Given the description of an element on the screen output the (x, y) to click on. 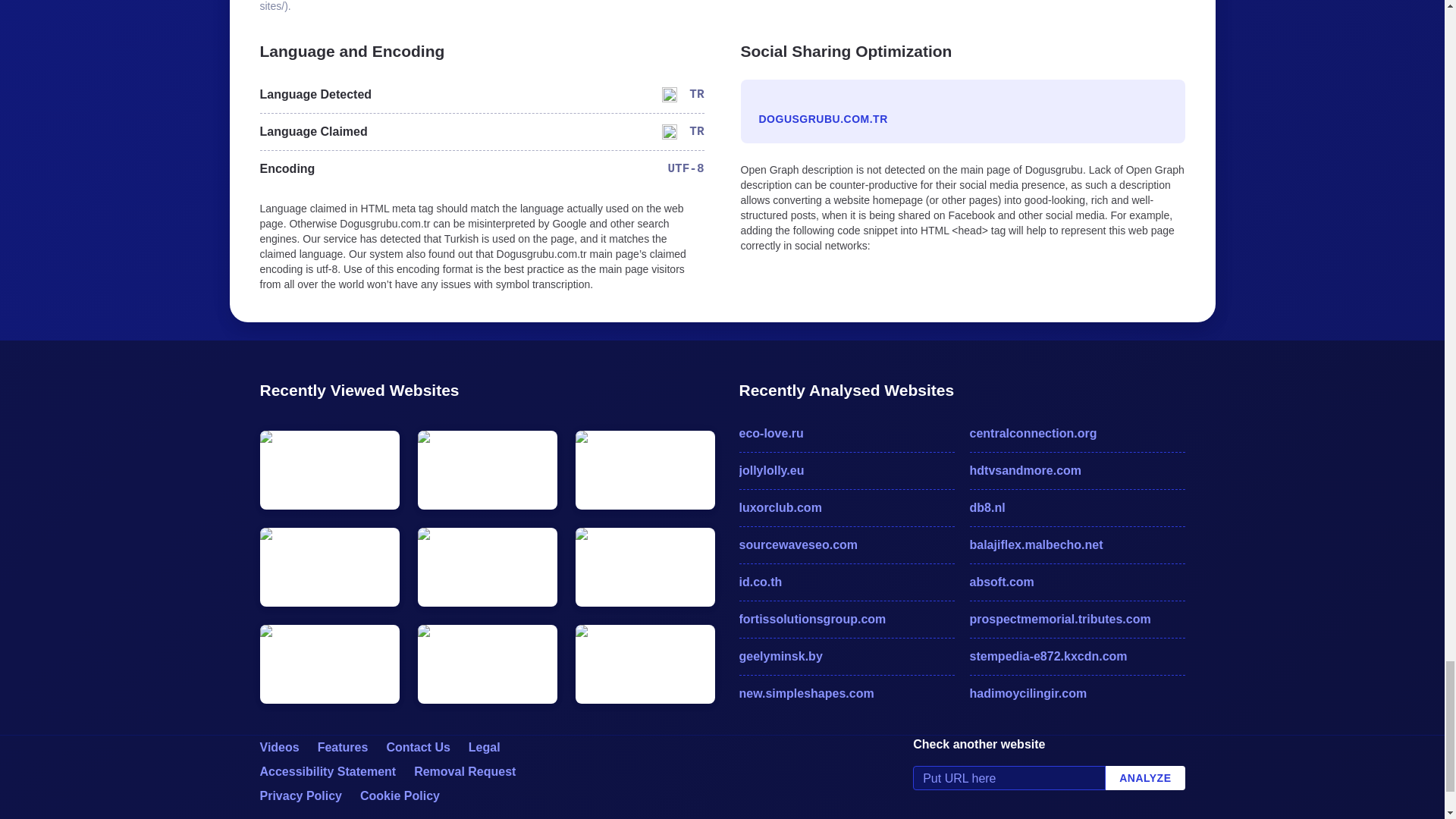
stempedia-e872.kxcdn.com (1077, 656)
absoft.com (1077, 582)
balajiflex.malbecho.net (1077, 545)
jollylolly.eu (845, 470)
Videos (278, 747)
luxorclub.com (845, 507)
Screencasts: video tutorials and guides (278, 747)
geelyminsk.by (845, 656)
fortissolutionsgroup.com (845, 619)
prospectmemorial.tributes.com (1077, 619)
hdtvsandmore.com (1077, 470)
hadimoycilingir.com (1077, 693)
eco-love.ru (845, 434)
Contact Us (417, 747)
sourcewaveseo.com (845, 545)
